Given the description of an element on the screen output the (x, y) to click on. 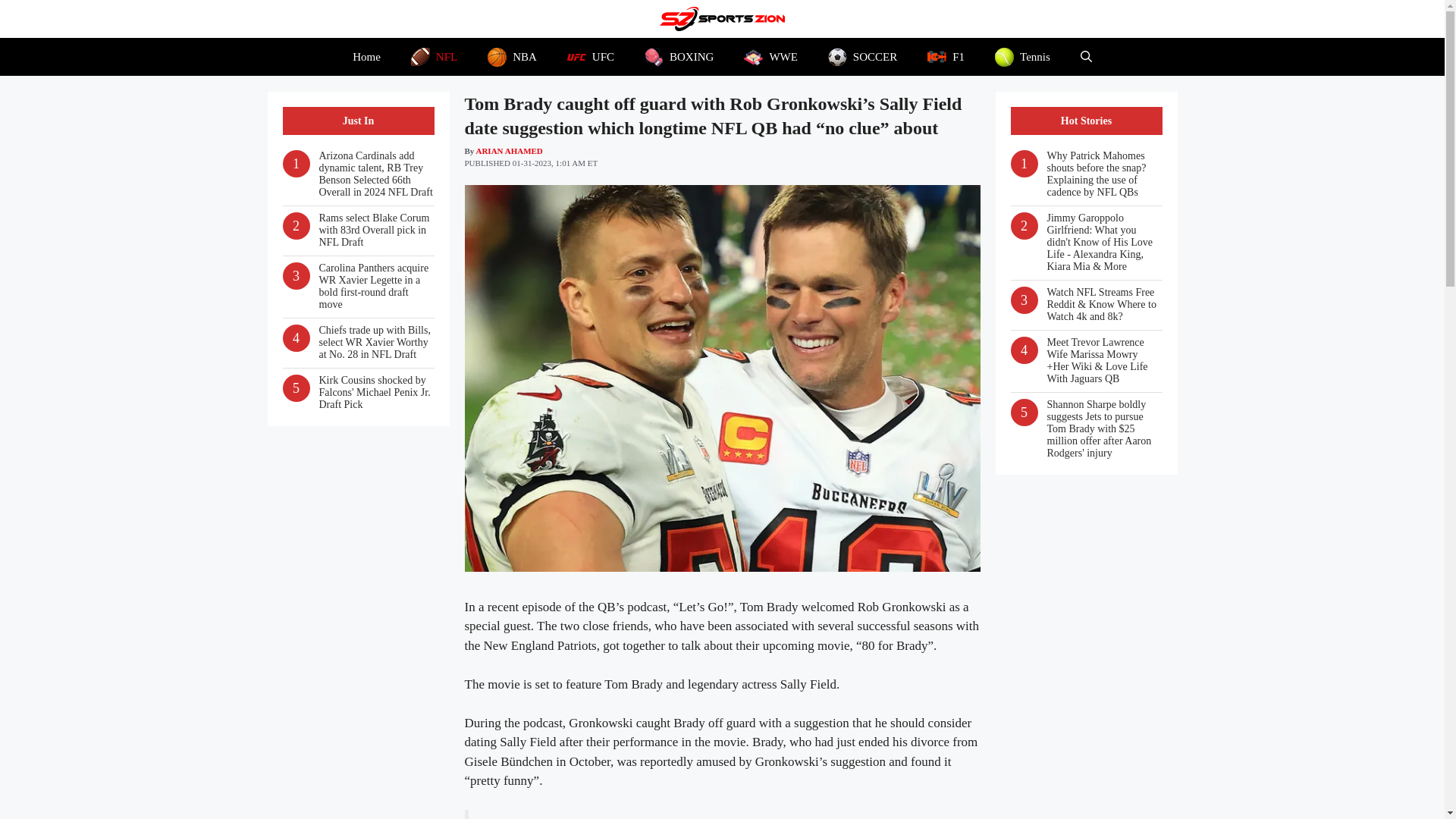
NBA (511, 56)
Home (366, 56)
WWE (770, 56)
Tennis (1022, 56)
F1 (945, 56)
BOXING (678, 56)
UFC (589, 56)
SOCCER (862, 56)
NFL (433, 56)
View all posts by Arian Ahamed (508, 149)
ARIAN AHAMED (508, 149)
